Given the description of an element on the screen output the (x, y) to click on. 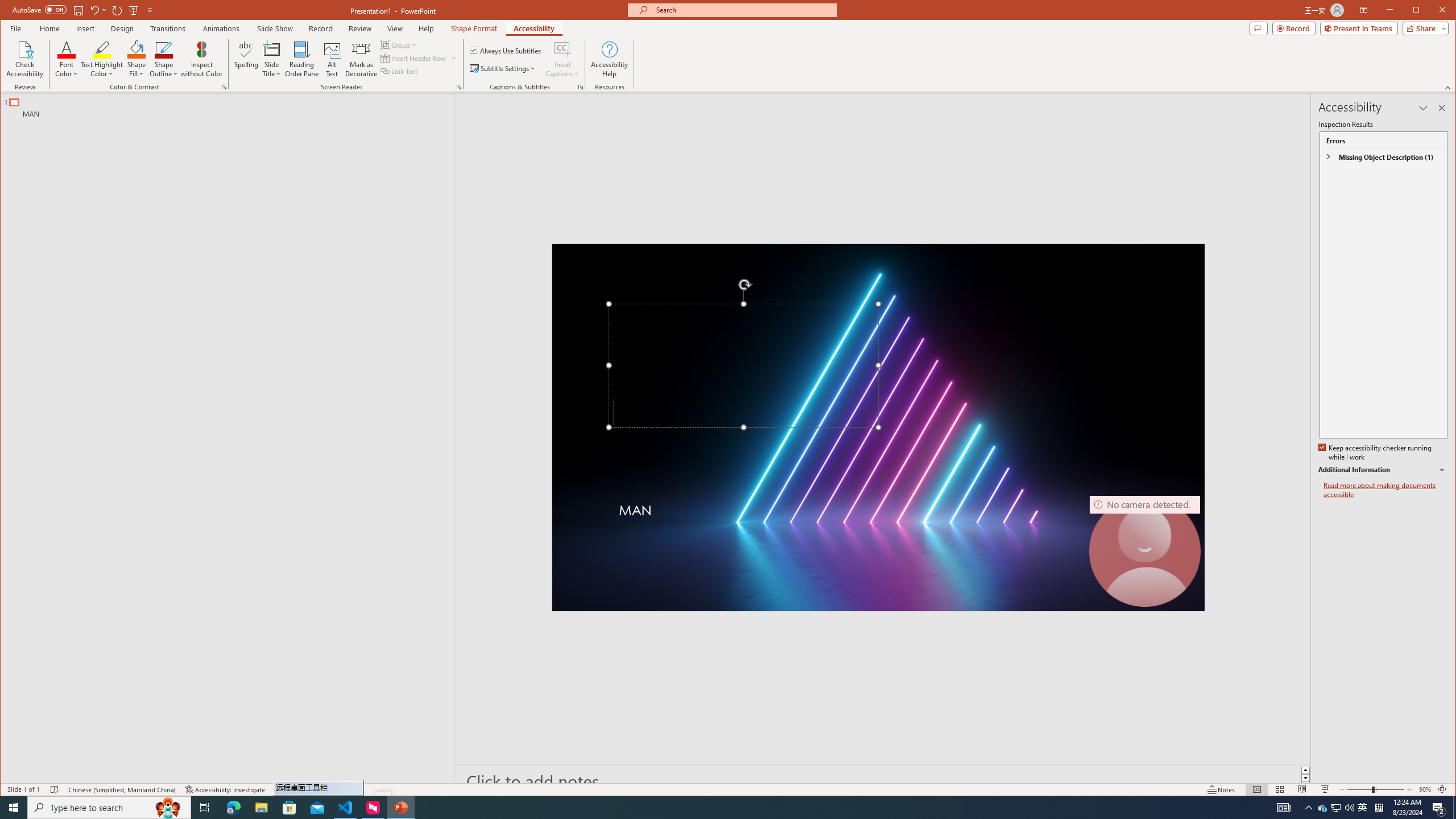
Mark as Decorative (360, 59)
Shape Fill Orange, Accent 2 (136, 48)
Link Text (399, 70)
Slide Title (271, 59)
Accessibility Help (608, 59)
Shape Format (473, 28)
Outline (231, 104)
